Given the description of an element on the screen output the (x, y) to click on. 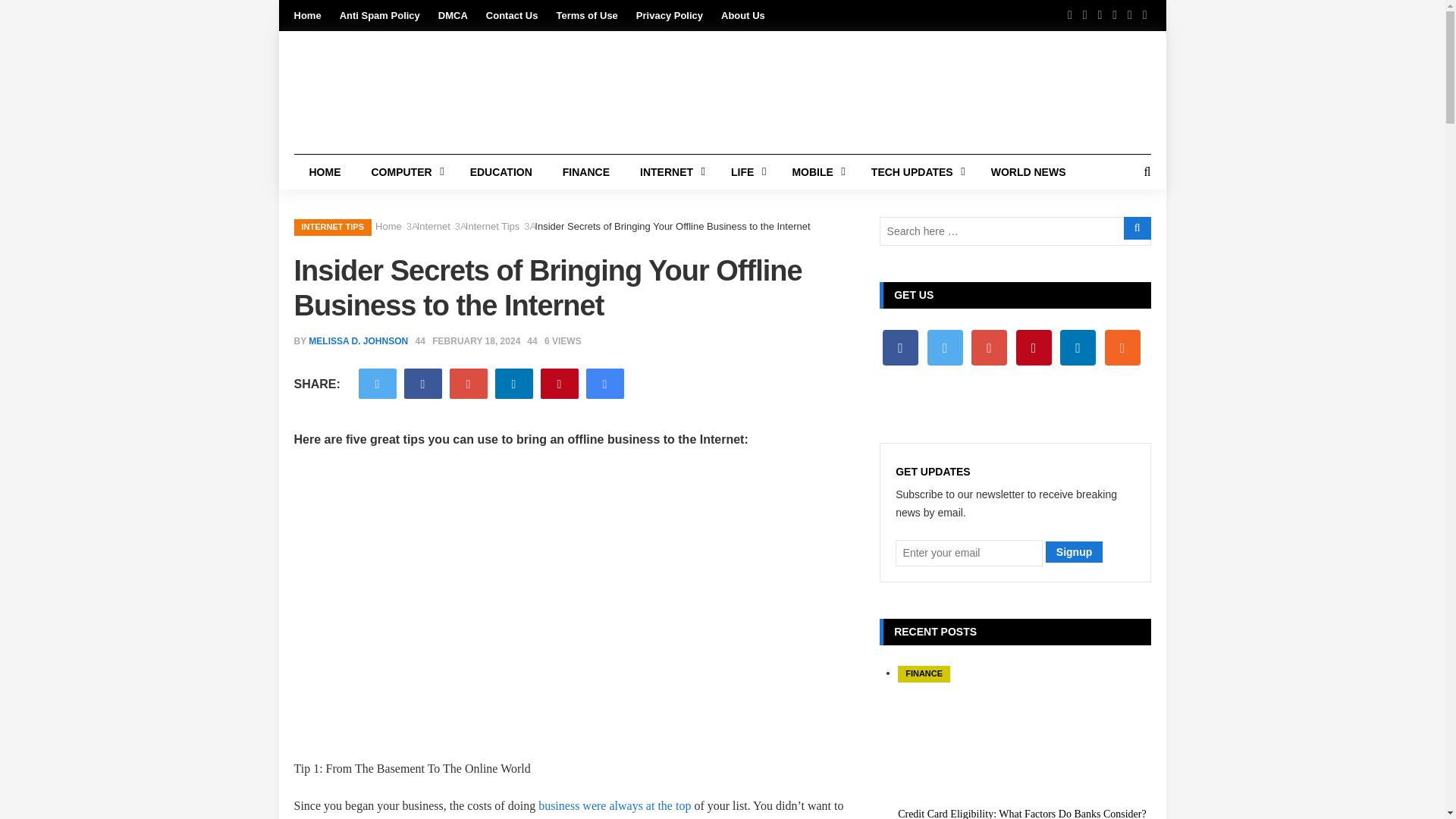
Terms of Use (586, 15)
DMCA (452, 15)
Contact Us (512, 15)
Anti Spam Policy (379, 15)
About Us (742, 15)
Home (307, 15)
Privacy Policy (669, 15)
